Given the description of an element on the screen output the (x, y) to click on. 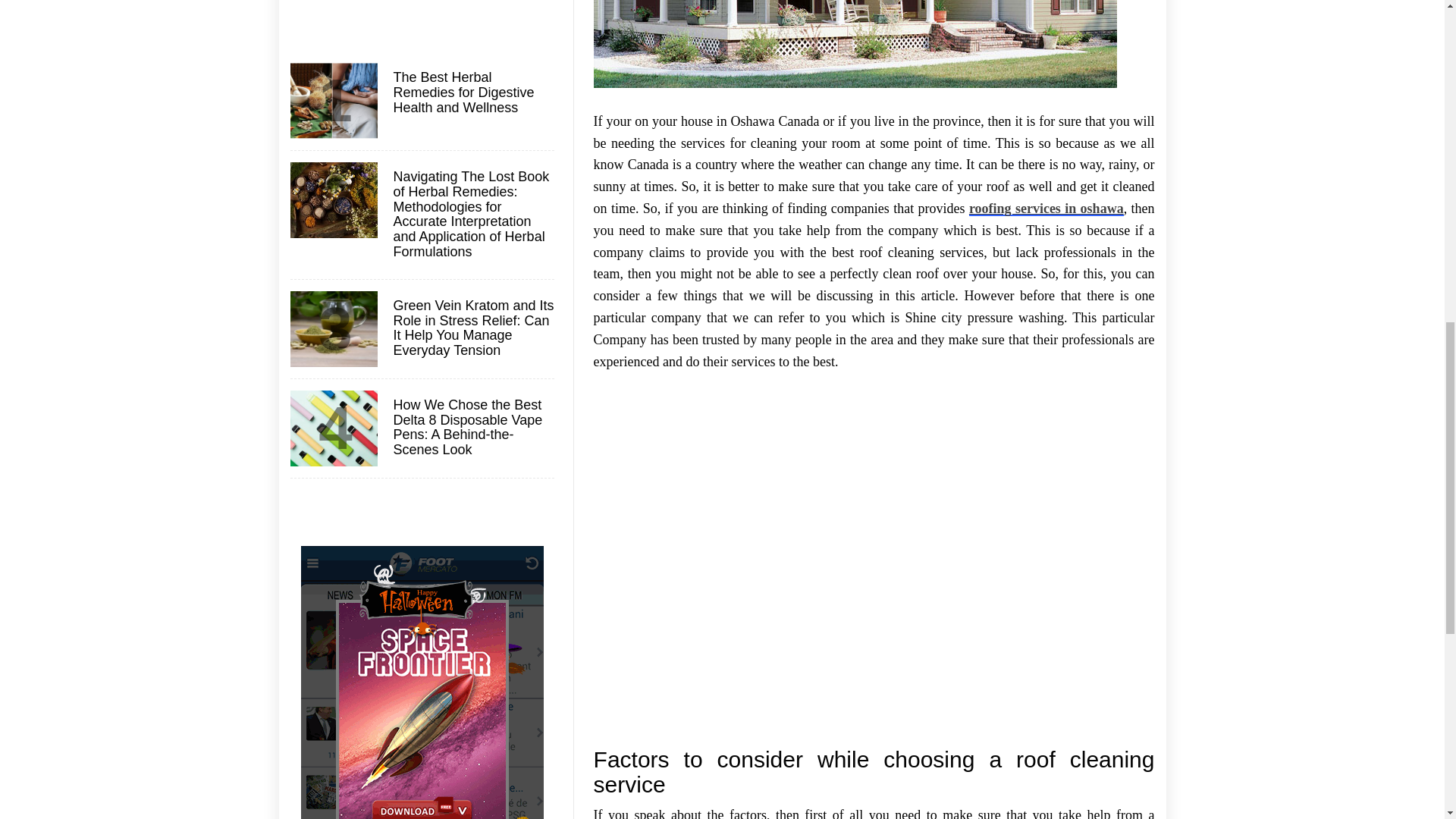
roofing services in oshawa (1046, 208)
The Best Herbal Remedies for Digestive Health and Wellness (471, 92)
